Given the description of an element on the screen output the (x, y) to click on. 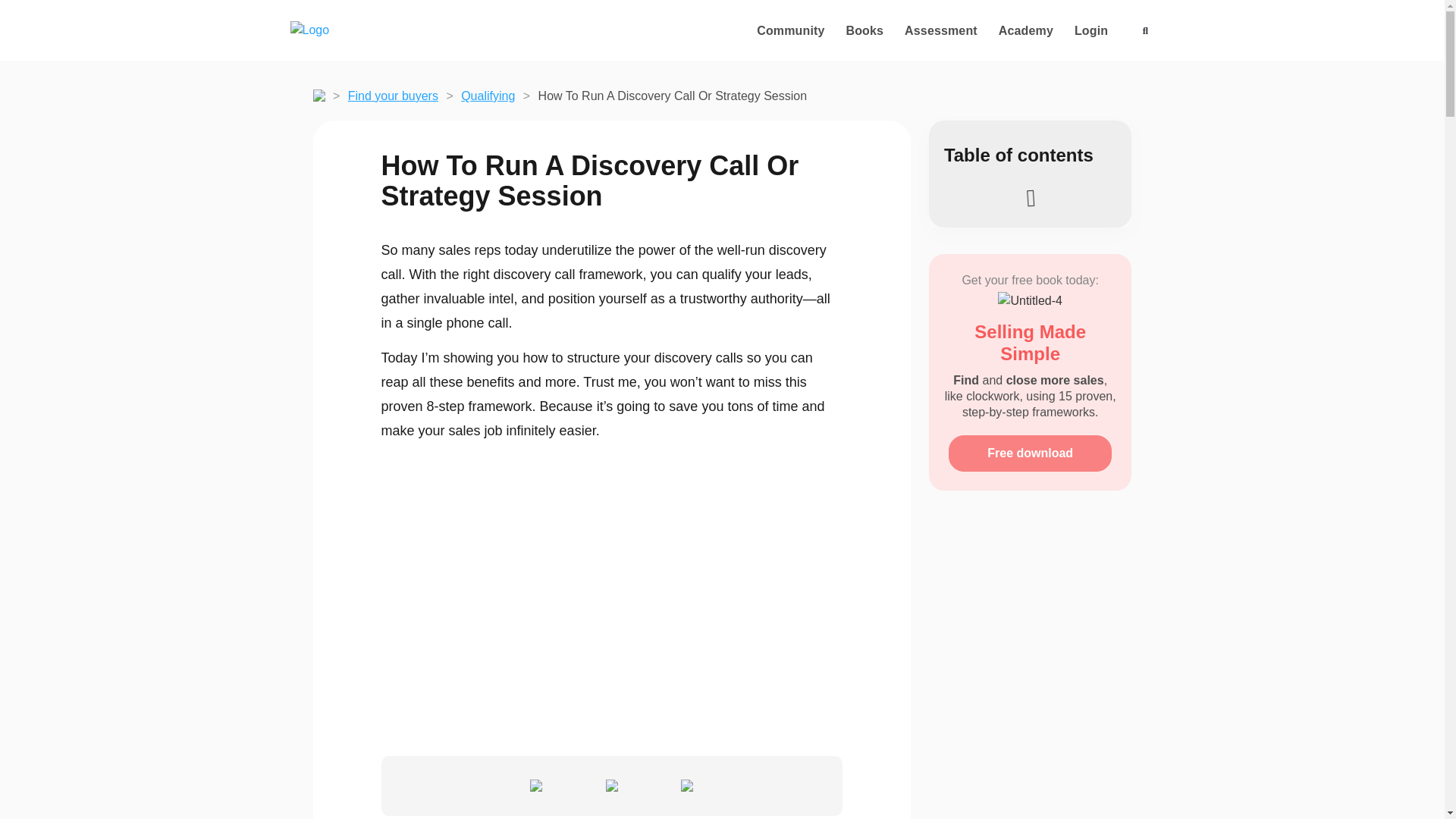
Login (1091, 30)
Get your free book today: (1029, 279)
Books (864, 30)
Community (790, 30)
Table of contents (1018, 154)
Go to Qualifying. (488, 95)
Selling Made Simple (1030, 342)
Assessment (940, 30)
Qualifying (488, 95)
